Given the description of an element on the screen output the (x, y) to click on. 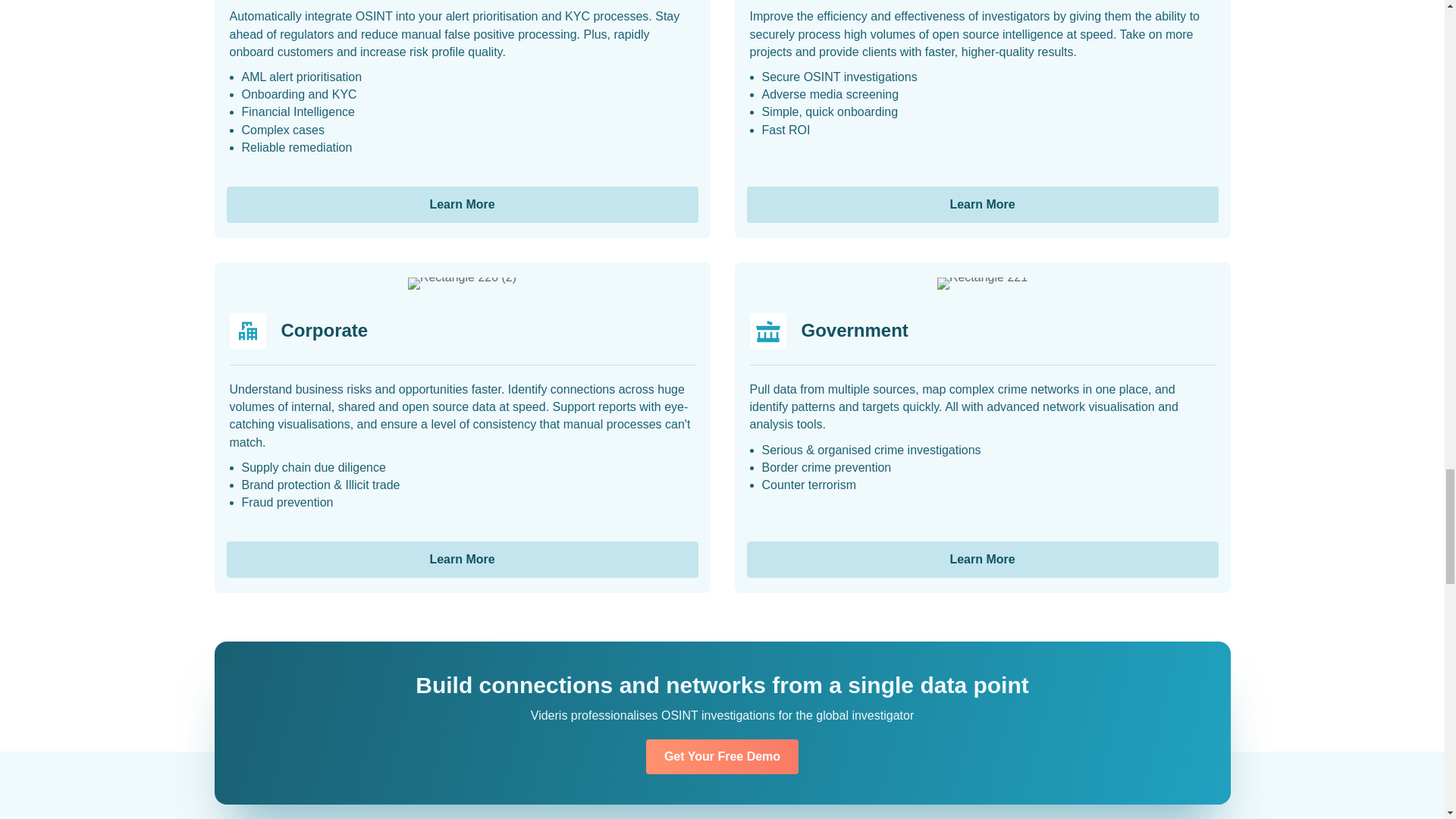
Rectangle 221 (982, 283)
